Given the description of an element on the screen output the (x, y) to click on. 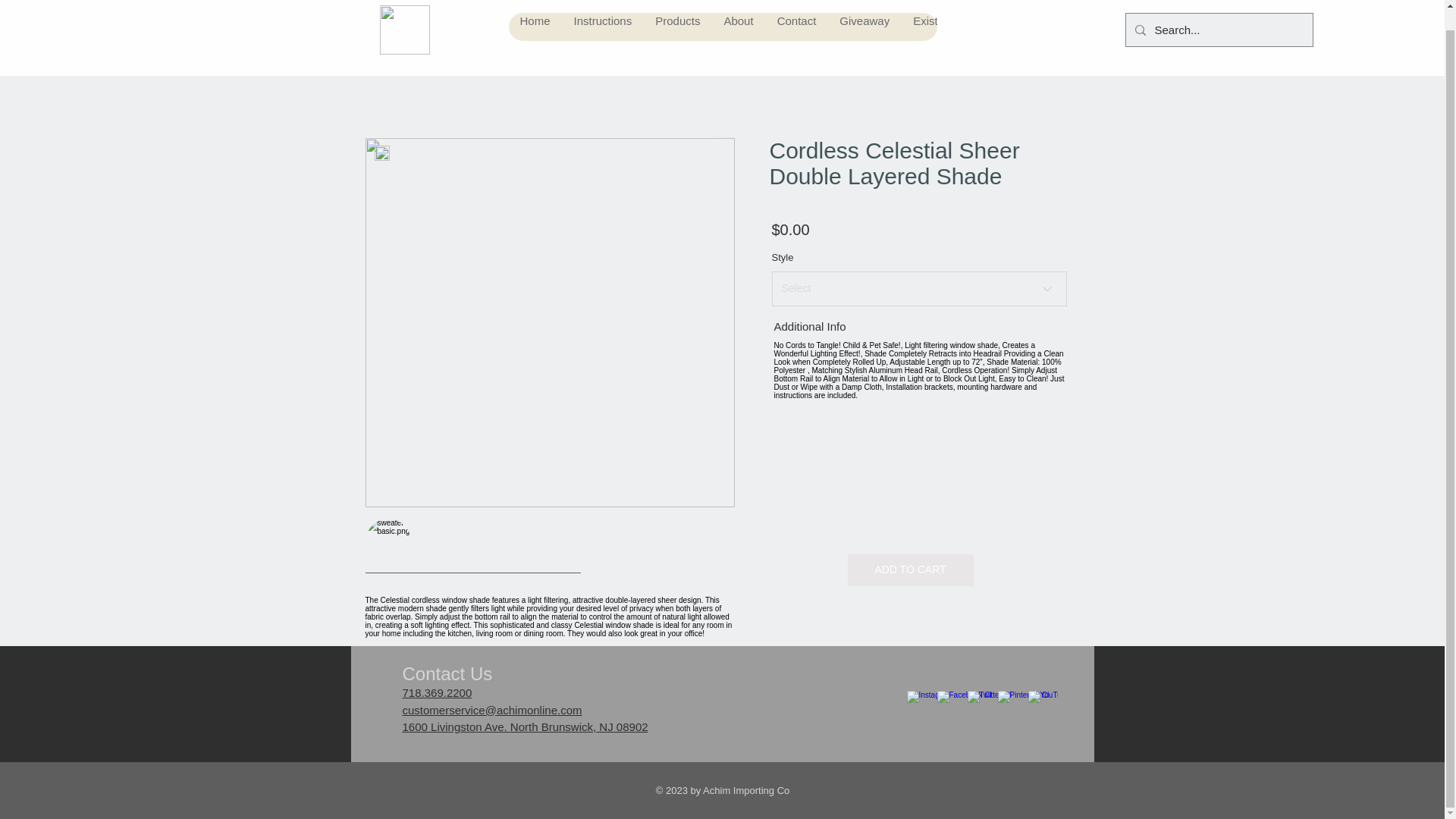
718.369.2200 (436, 692)
Instructions (602, 10)
About (737, 10)
justlogo.png (403, 17)
Contact (796, 10)
Existing Customers (961, 10)
Giveaway (864, 10)
Home (534, 10)
